Given the description of an element on the screen output the (x, y) to click on. 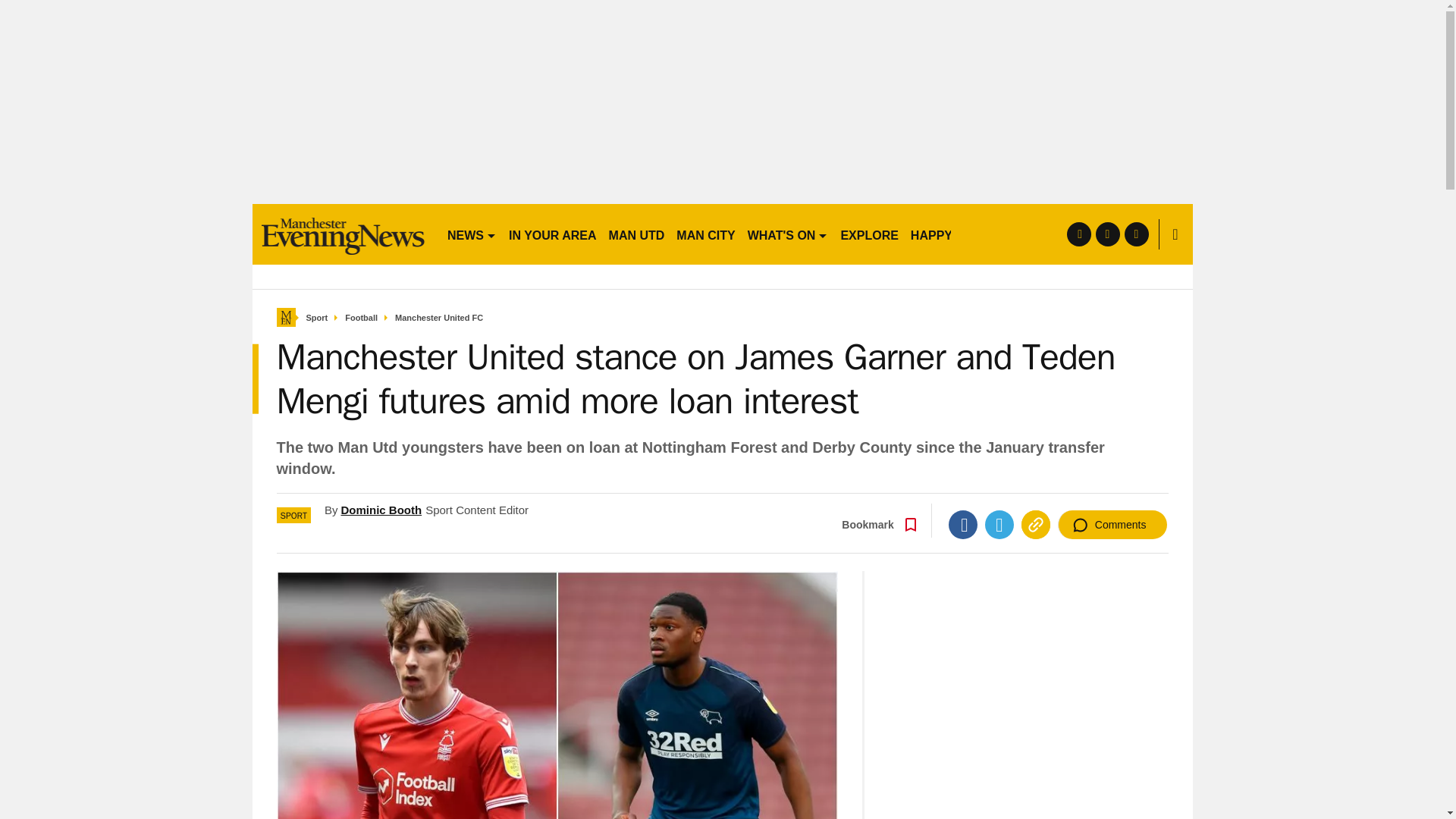
instagram (1136, 233)
NEWS (471, 233)
Comments (1112, 524)
facebook (1077, 233)
twitter (1106, 233)
MAN UTD (636, 233)
MAN CITY (705, 233)
IN YOUR AREA (552, 233)
Facebook (962, 524)
Twitter (999, 524)
